Given the description of an element on the screen output the (x, y) to click on. 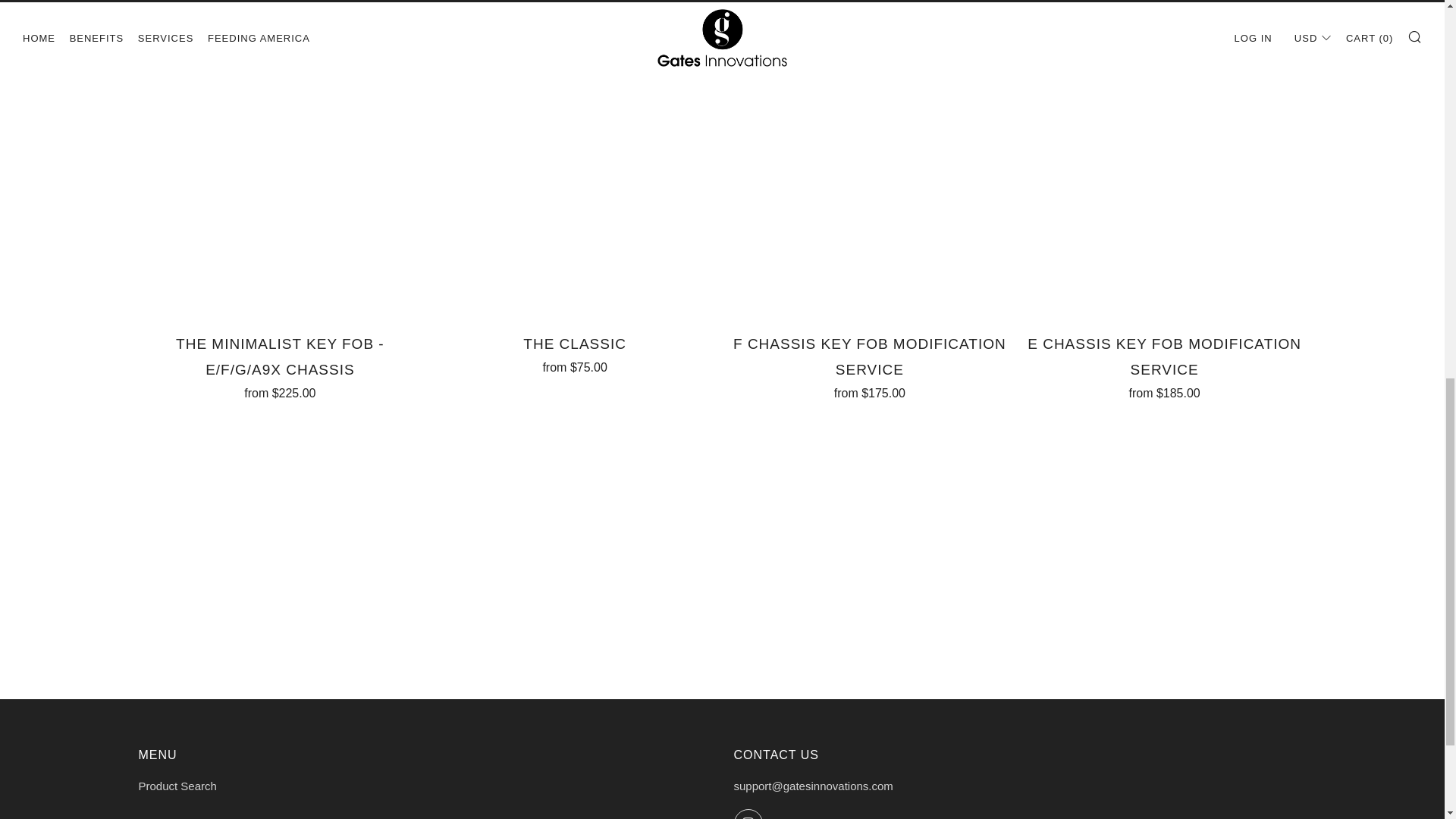
The Classic (574, 351)
E Chassis Key Fob Modification Service (1164, 364)
F Chassis Key Fob Modification Service (869, 364)
